Given the description of an element on the screen output the (x, y) to click on. 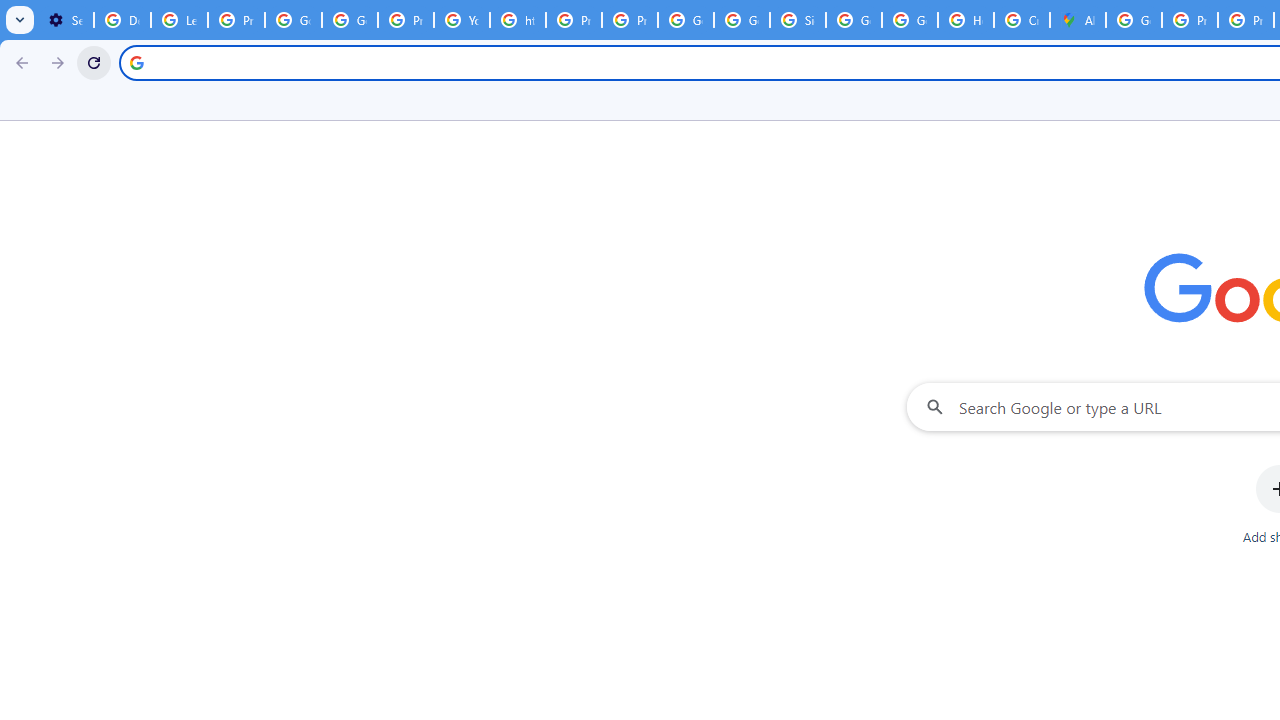
Settings - On startup (65, 20)
Sign in - Google Accounts (797, 20)
Search icon (136, 62)
Learn how to find your photos - Google Photos Help (179, 20)
Google Account Help (293, 20)
